Given the description of an element on the screen output the (x, y) to click on. 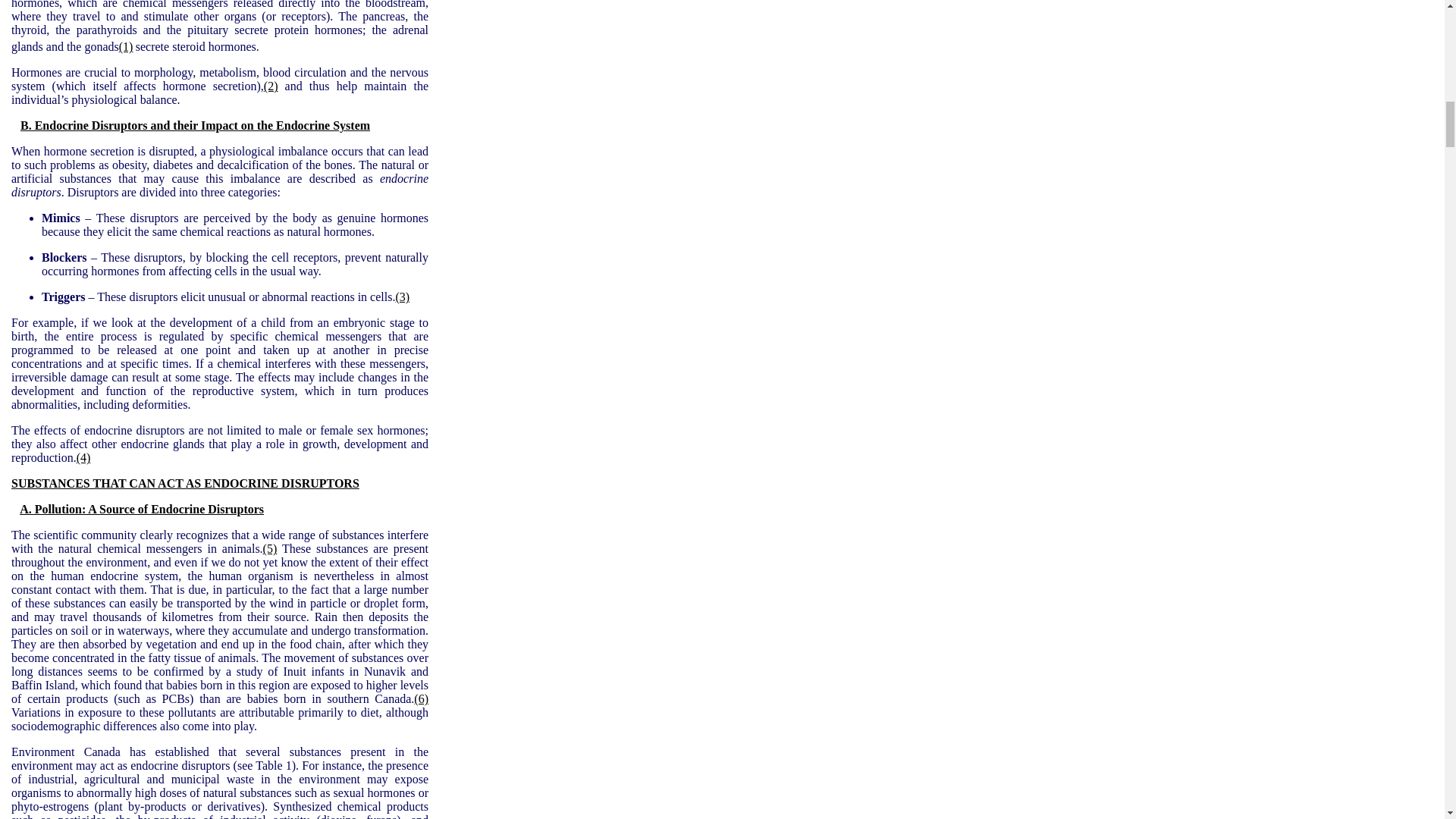
A. Pollution: A Source of Endocrine Disruptors (141, 508)
SUBSTANCES THAT CAN ACT AS ENDOCRINE DISRUPTORS (185, 482)
